Given the description of an element on the screen output the (x, y) to click on. 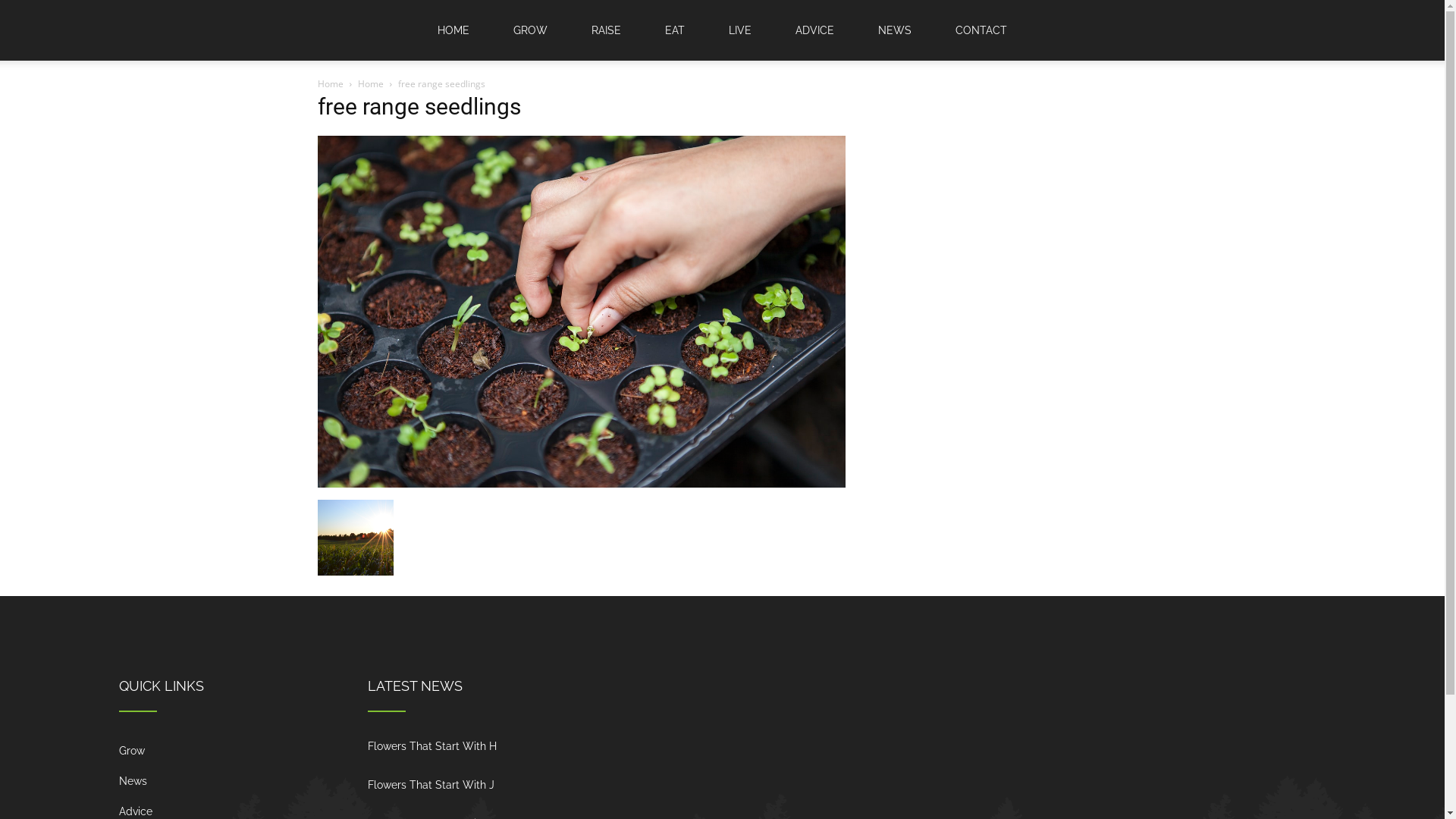
Flowers That Start With H Element type: text (431, 746)
GROW Element type: text (530, 30)
ADVICE Element type: text (814, 30)
free range seedlings Element type: text (418, 106)
free range seedlings Element type: hover (580, 483)
RAISE Element type: text (605, 30)
CONTACT Element type: text (980, 30)
Home Element type: text (370, 83)
NEWS Element type: text (894, 30)
EAT Element type: text (674, 30)
HOME Element type: text (453, 30)
Home Element type: text (329, 83)
LIVE Element type: text (740, 30)
Flowers That Start With J Element type: text (430, 784)
